Given the description of an element on the screen output the (x, y) to click on. 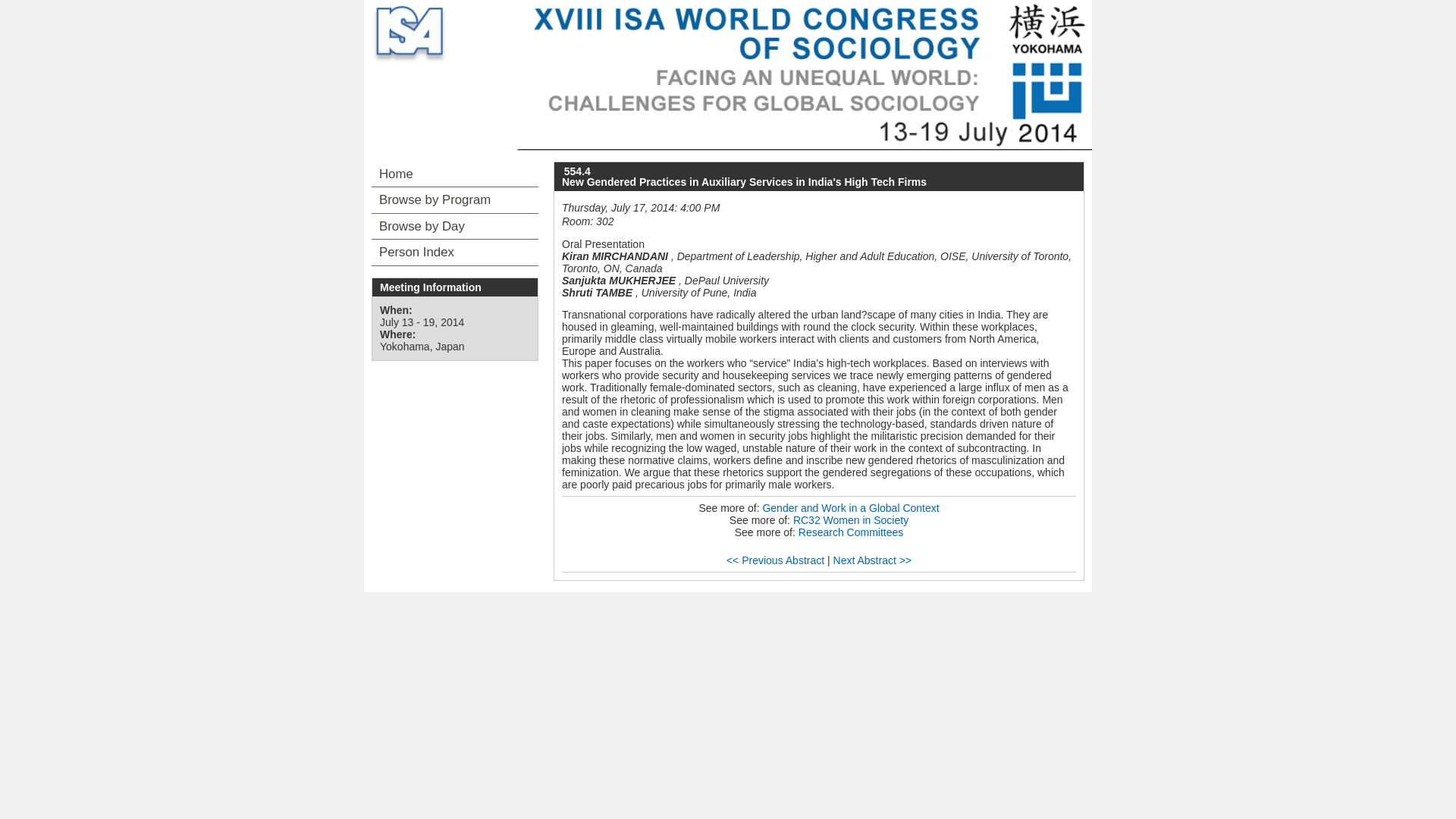
Browse by Program (454, 199)
Person Index (454, 252)
Gender and Work in a Global Context (850, 508)
Research Committees (850, 532)
RC32 Women in Society (850, 520)
Browse by Day (454, 226)
Home (454, 174)
